Given the description of an element on the screen output the (x, y) to click on. 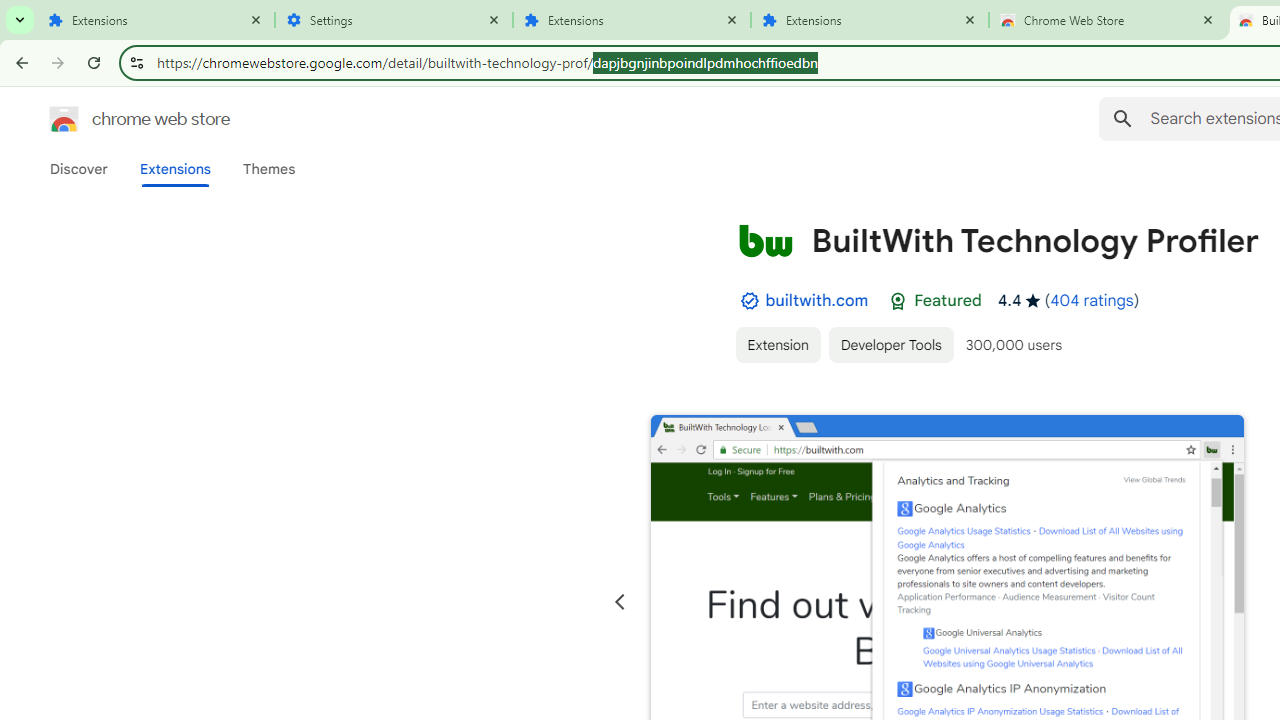
Extensions (632, 20)
Extensions (174, 169)
builtwith.com (817, 300)
Previous slide (619, 601)
Extension (777, 344)
Item logo image for BuiltWith Technology Profiler (765, 240)
Back (19, 62)
System (10, 11)
Themes (269, 169)
Extensions (156, 20)
Chrome Web Store logo chrome web store (118, 118)
Forward (57, 62)
Reload (93, 62)
Extensions (870, 20)
